Given the description of an element on the screen output the (x, y) to click on. 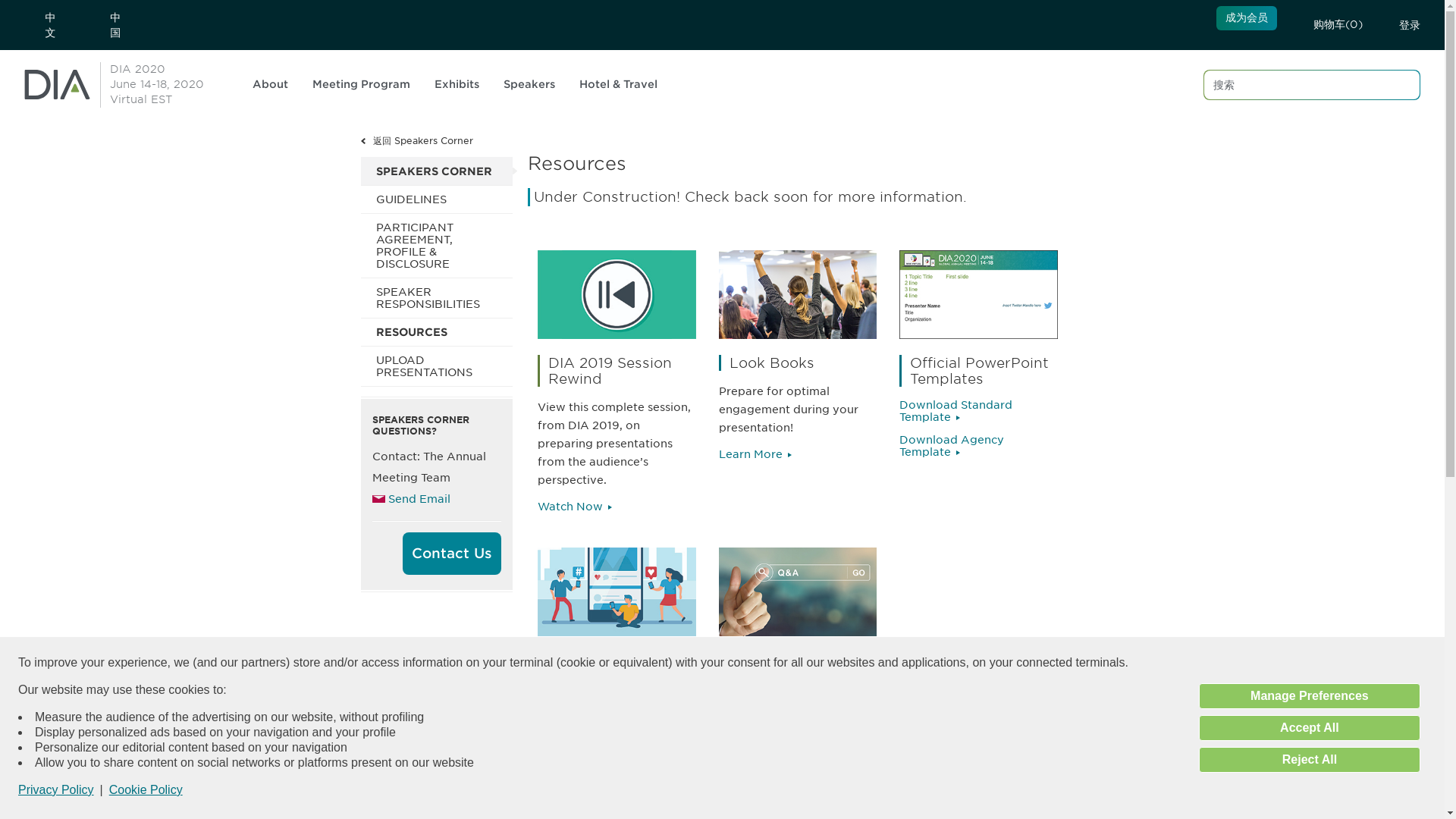
Cookie Policy (146, 789)
Privacy Policy (55, 789)
Accept All (156, 84)
Reject All (1309, 727)
About (1309, 759)
Exhibits (275, 84)
Manage Preferences (462, 84)
Meeting Program (1309, 696)
Speakers (367, 84)
